Given the description of an element on the screen output the (x, y) to click on. 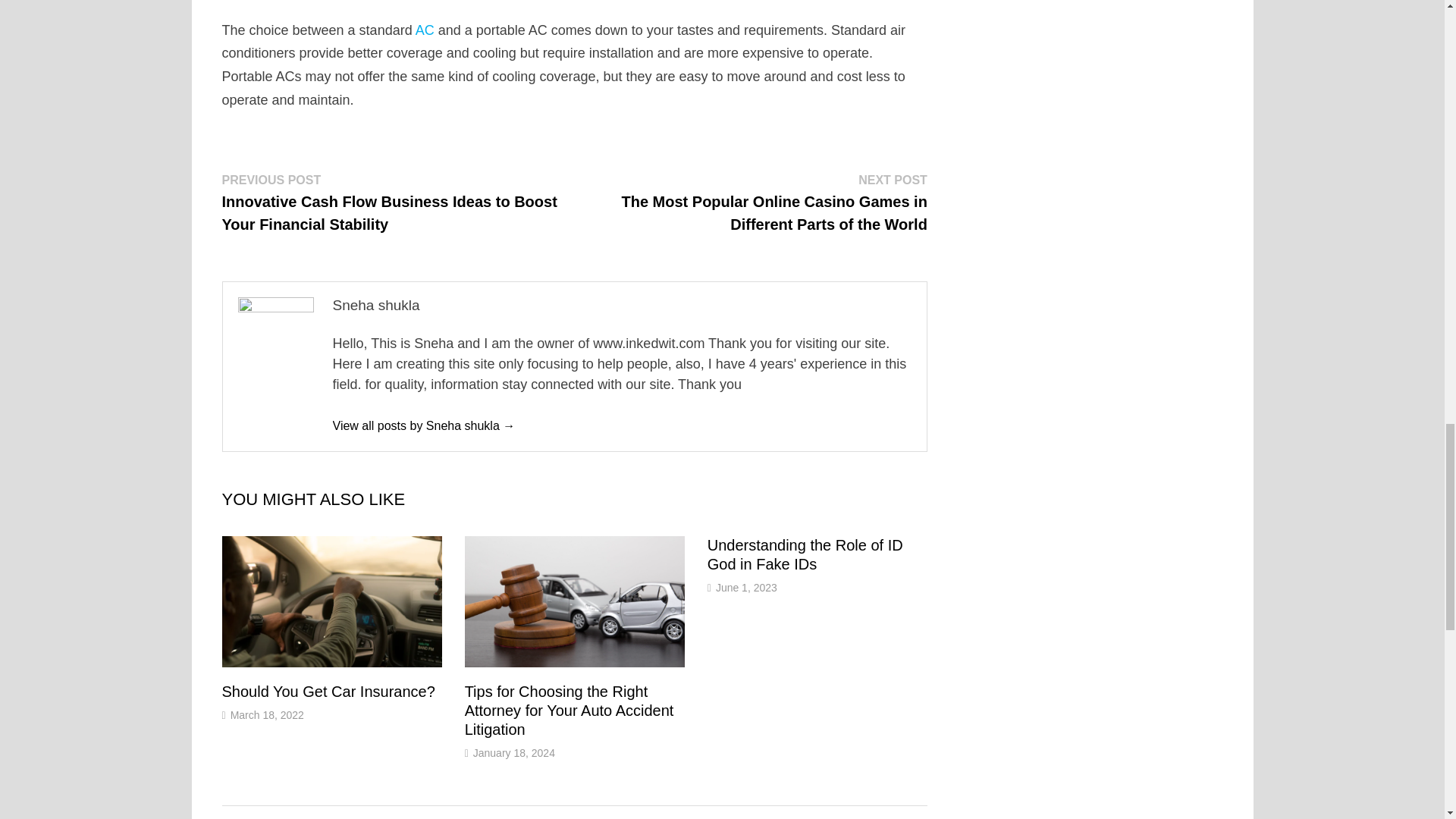
AC (423, 29)
March 18, 2022 (267, 715)
Understanding the Role of ID God in Fake IDs (804, 554)
Should You Get Car Insurance? (327, 691)
Should You Get Car Insurance? (327, 691)
Sneha shukla (423, 425)
